Given the description of an element on the screen output the (x, y) to click on. 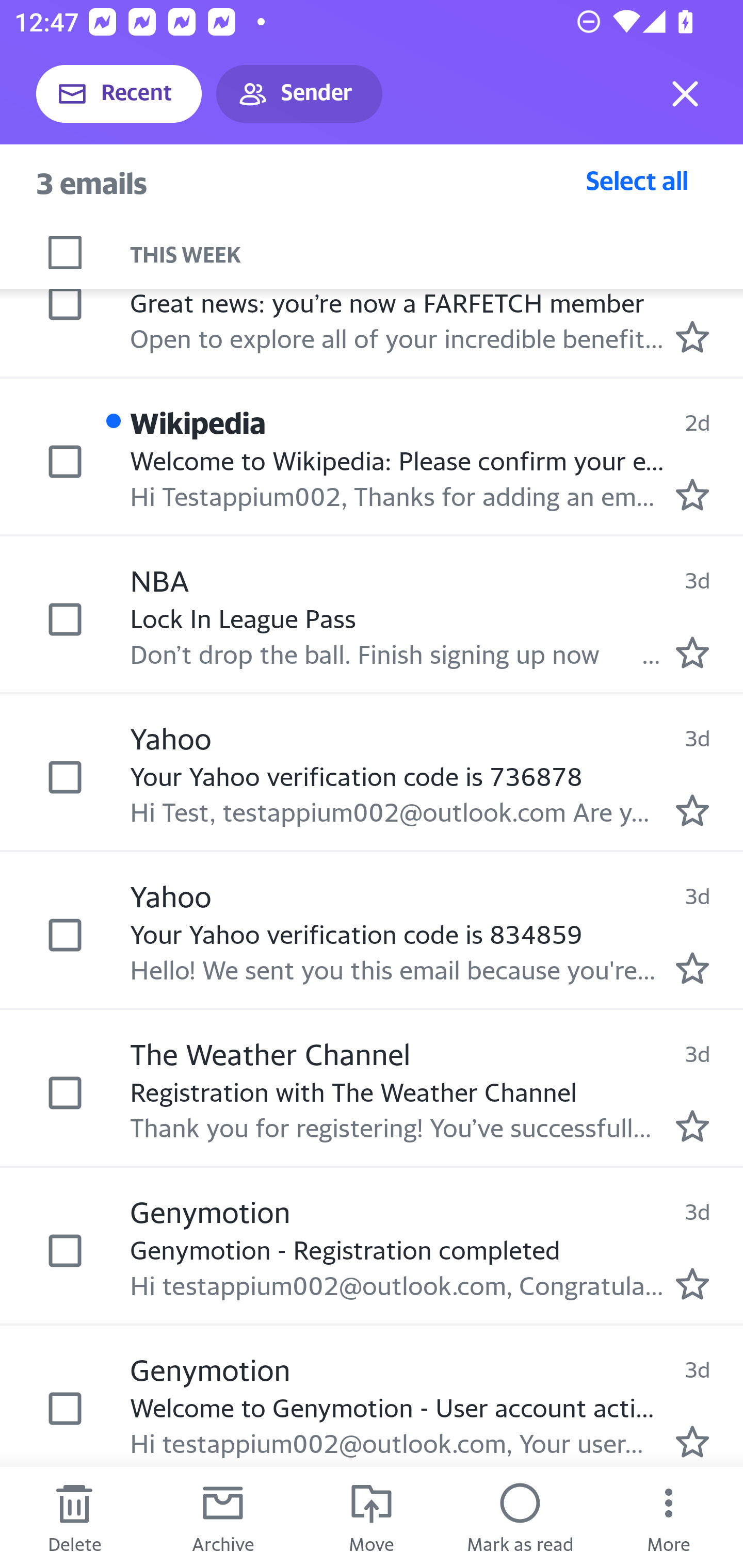
Sender (299, 93)
Exit selection mode (684, 93)
Select all (637, 180)
Mark as starred. (692, 336)
Mark as starred. (692, 494)
Mark as starred. (692, 653)
Mark as starred. (692, 809)
Mark as starred. (692, 968)
Mark as starred. (692, 1126)
Mark as starred. (692, 1283)
Mark as starred. (692, 1441)
Delete (74, 1517)
Archive (222, 1517)
Move (371, 1517)
Mark as read (519, 1517)
More (668, 1517)
